Given the description of an element on the screen output the (x, y) to click on. 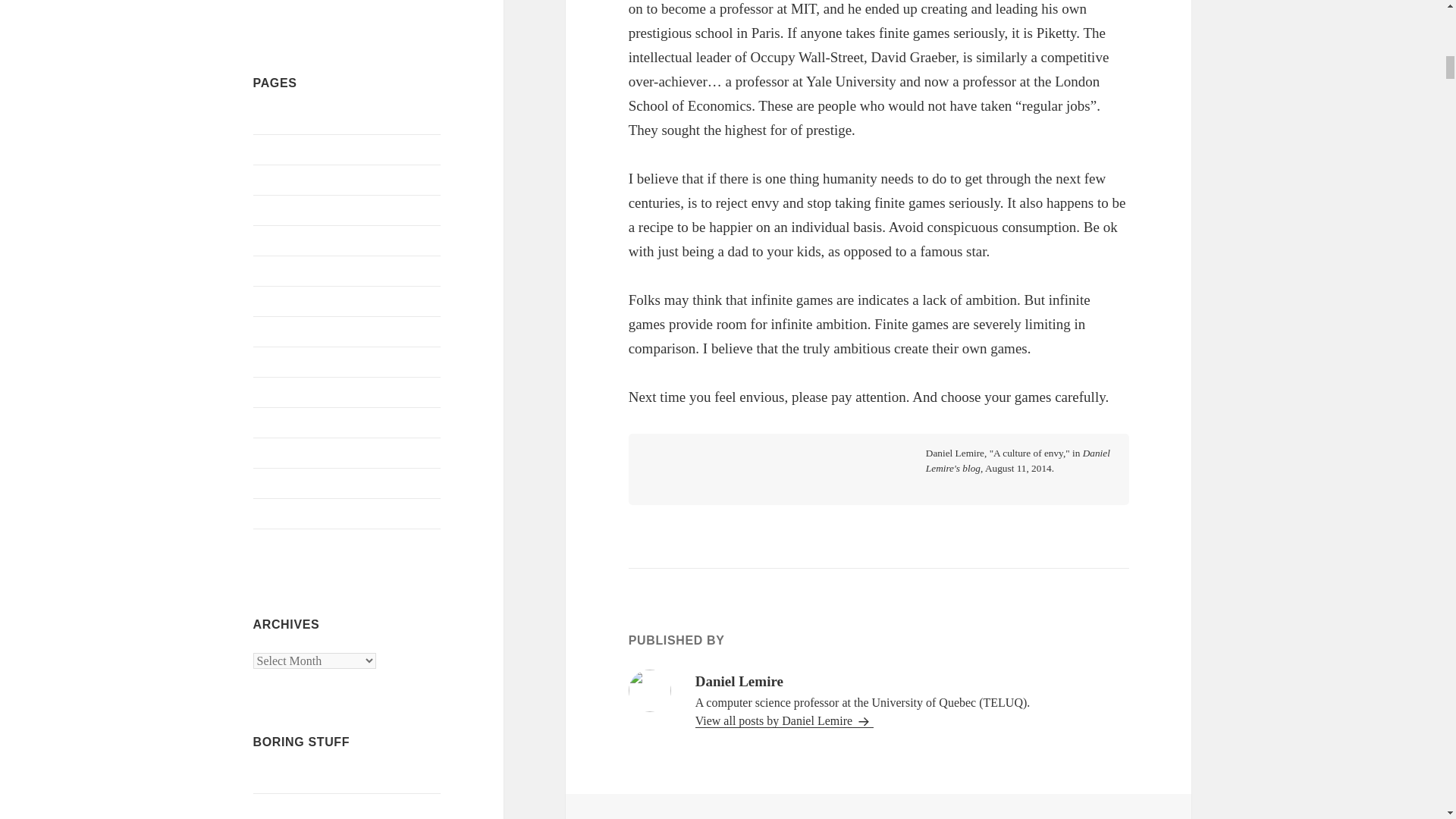
My favorite articles (301, 300)
My bets (272, 270)
Log in (269, 778)
Interviews and talks (301, 240)
Write good papers (297, 543)
Predictions (280, 422)
Cognitive biases (293, 210)
Terms of use (284, 513)
A short history of technology (324, 119)
My rules (275, 361)
